Given the description of an element on the screen output the (x, y) to click on. 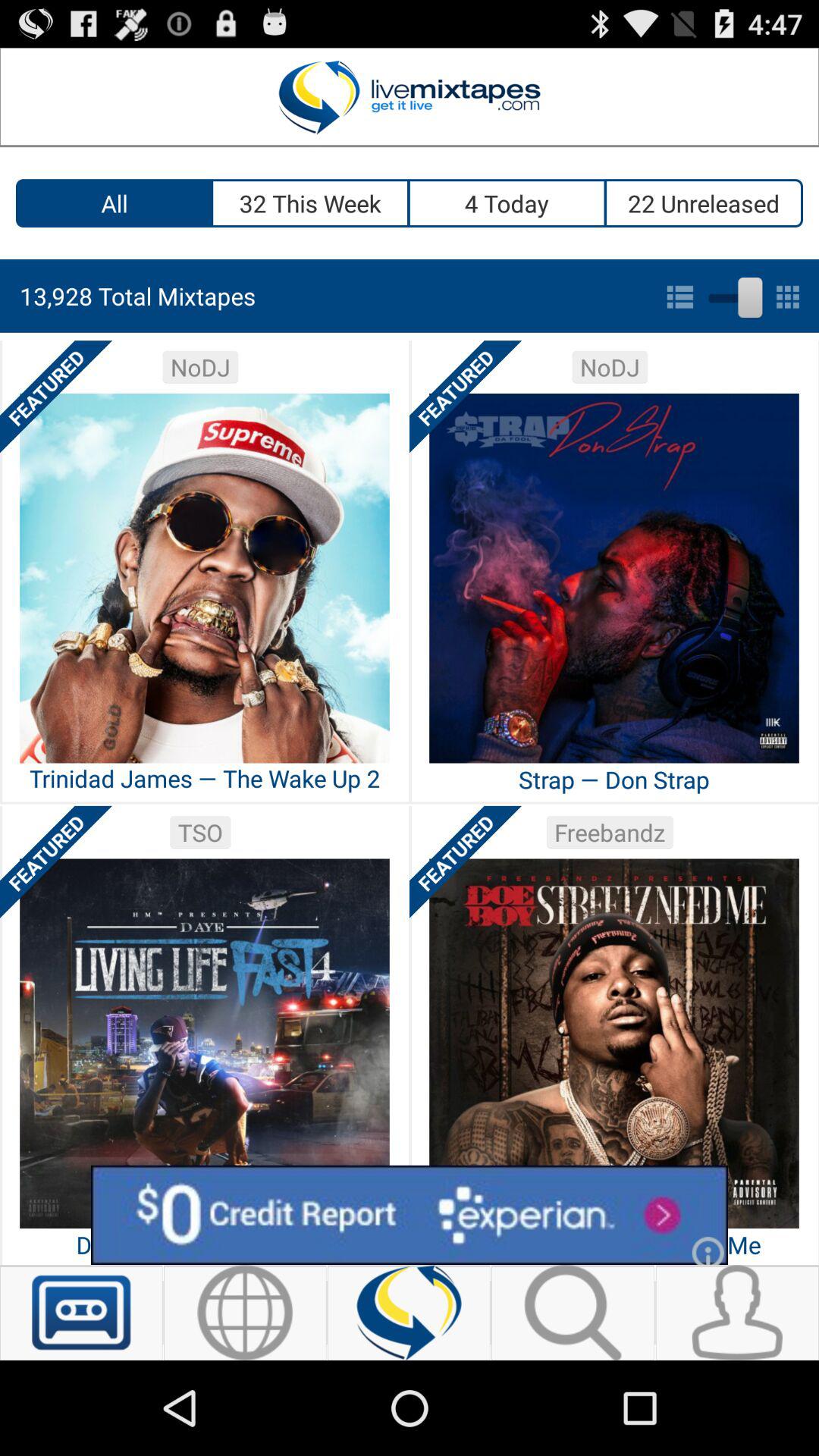
tap app next to 22 unreleased app (507, 203)
